Given the description of an element on the screen output the (x, y) to click on. 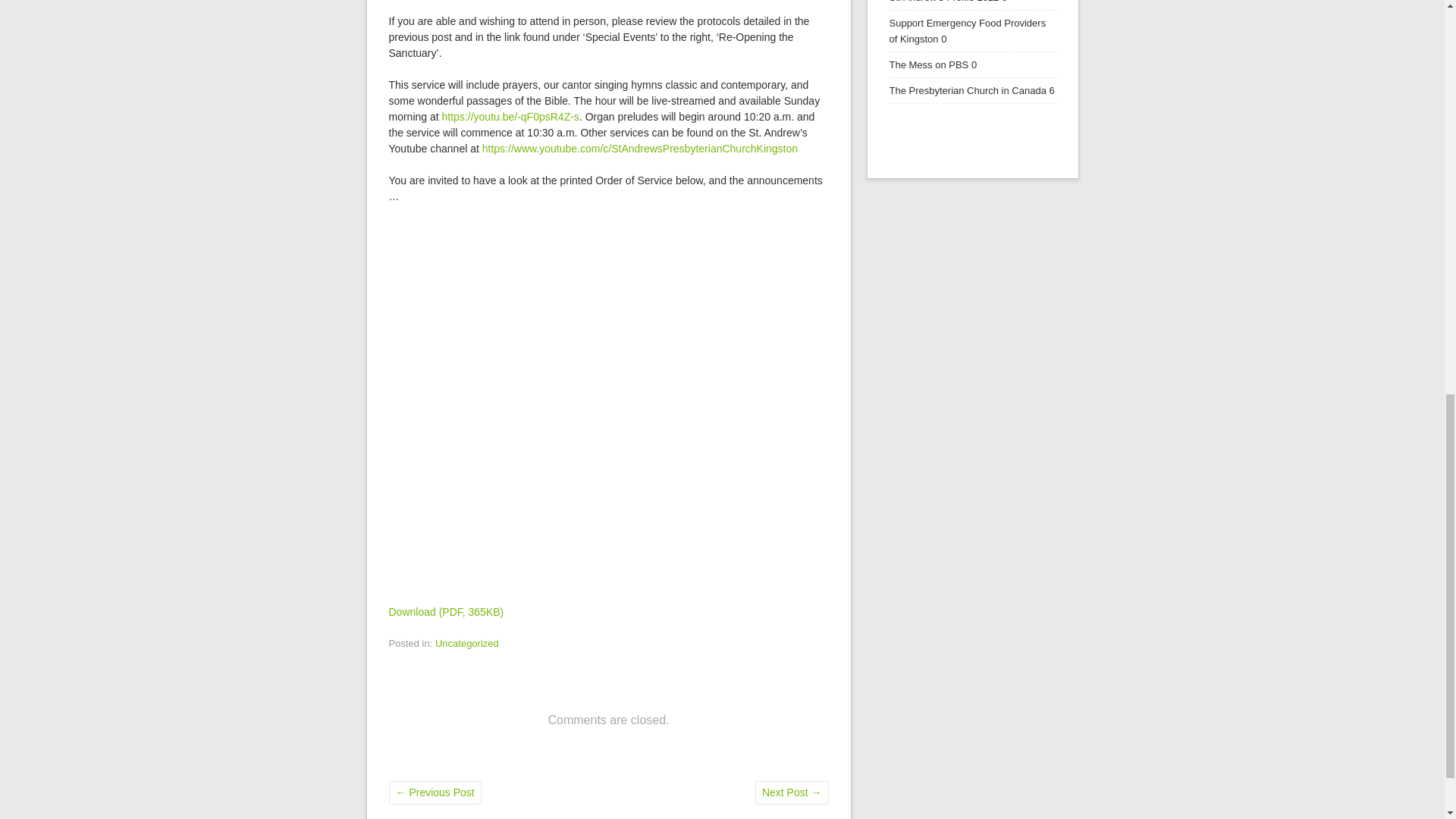
Uncategorized (467, 643)
